Given the description of an element on the screen output the (x, y) to click on. 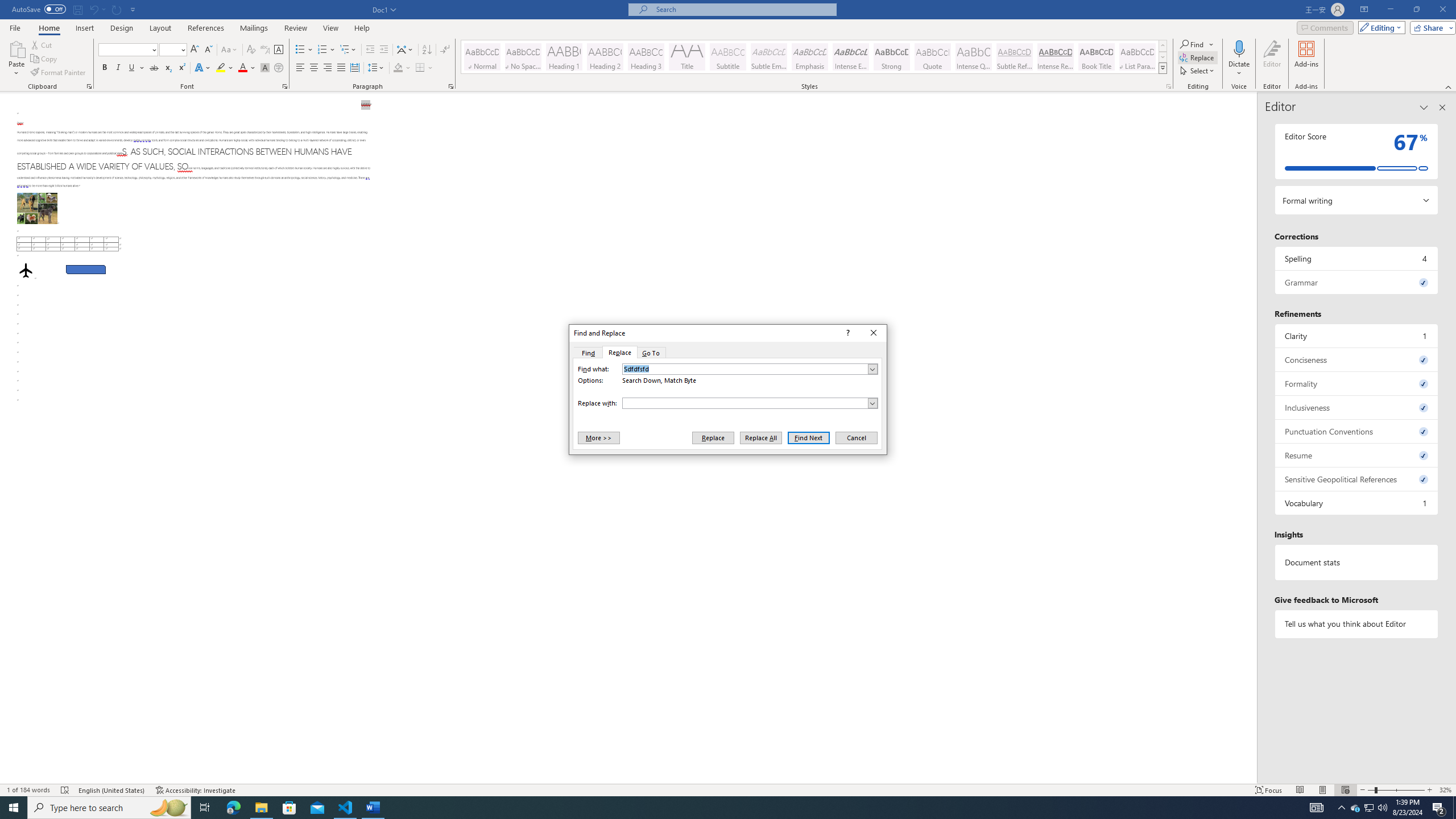
Zoom 32% (1445, 790)
Replace (713, 437)
Resume, 0 issues. Press space or enter to review items. (1356, 454)
